Given the description of an element on the screen output the (x, y) to click on. 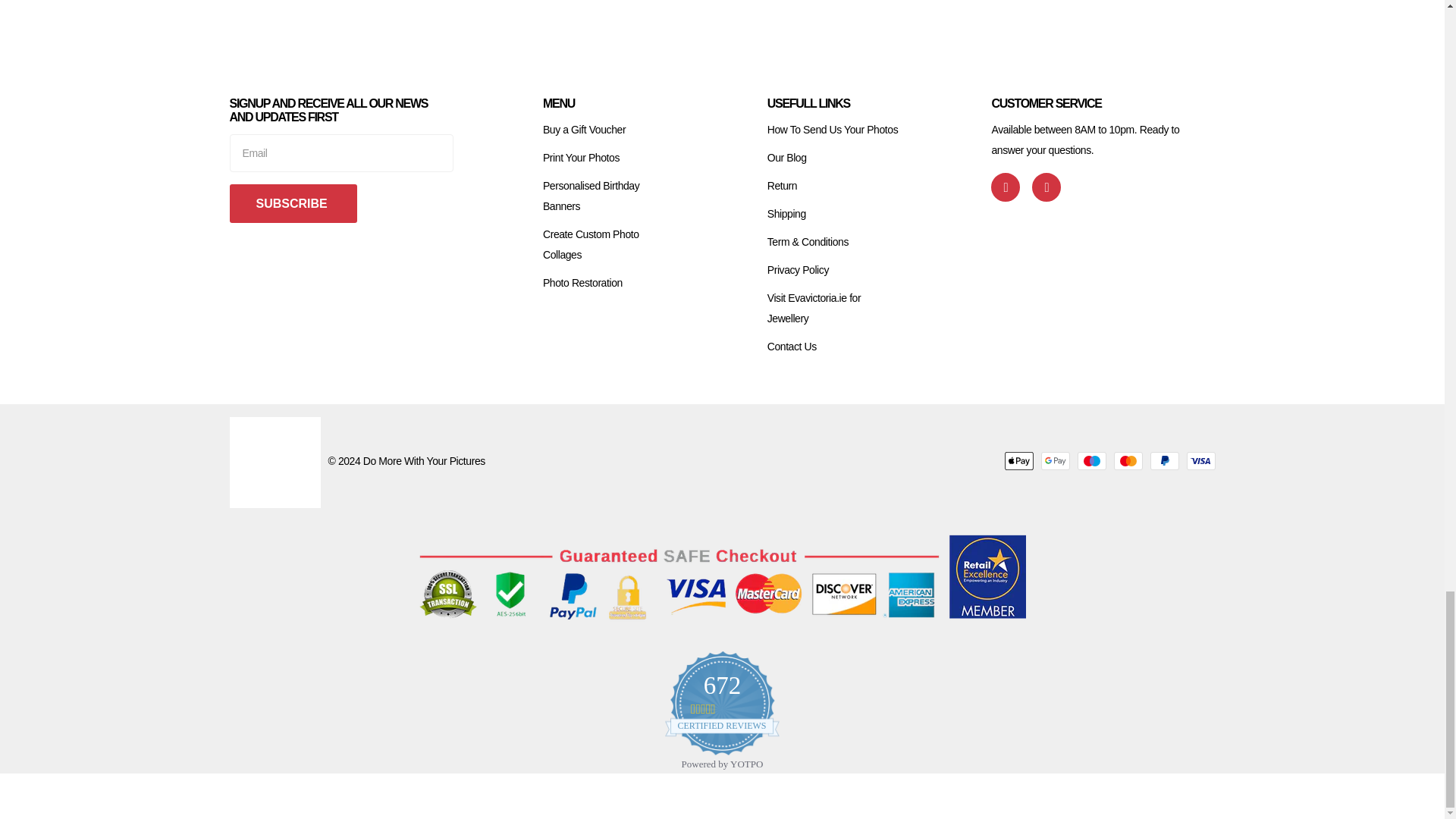
Apple Pay (1018, 461)
Buy a Gift Voucher (584, 129)
Shipping (786, 214)
Maestro (1091, 461)
Contact Us (791, 346)
Privacy Policy (797, 269)
How To Send Us Your Photos (832, 129)
Mastercard (1127, 461)
Print Your Photos (581, 157)
Photo Restoration (583, 282)
Visit Evavictoria.ie  for Jewellery (814, 307)
Visa (1200, 461)
Google Pay (1054, 461)
Create Custom Photo Collages (591, 244)
Our Blog (786, 157)
